Given the description of an element on the screen output the (x, y) to click on. 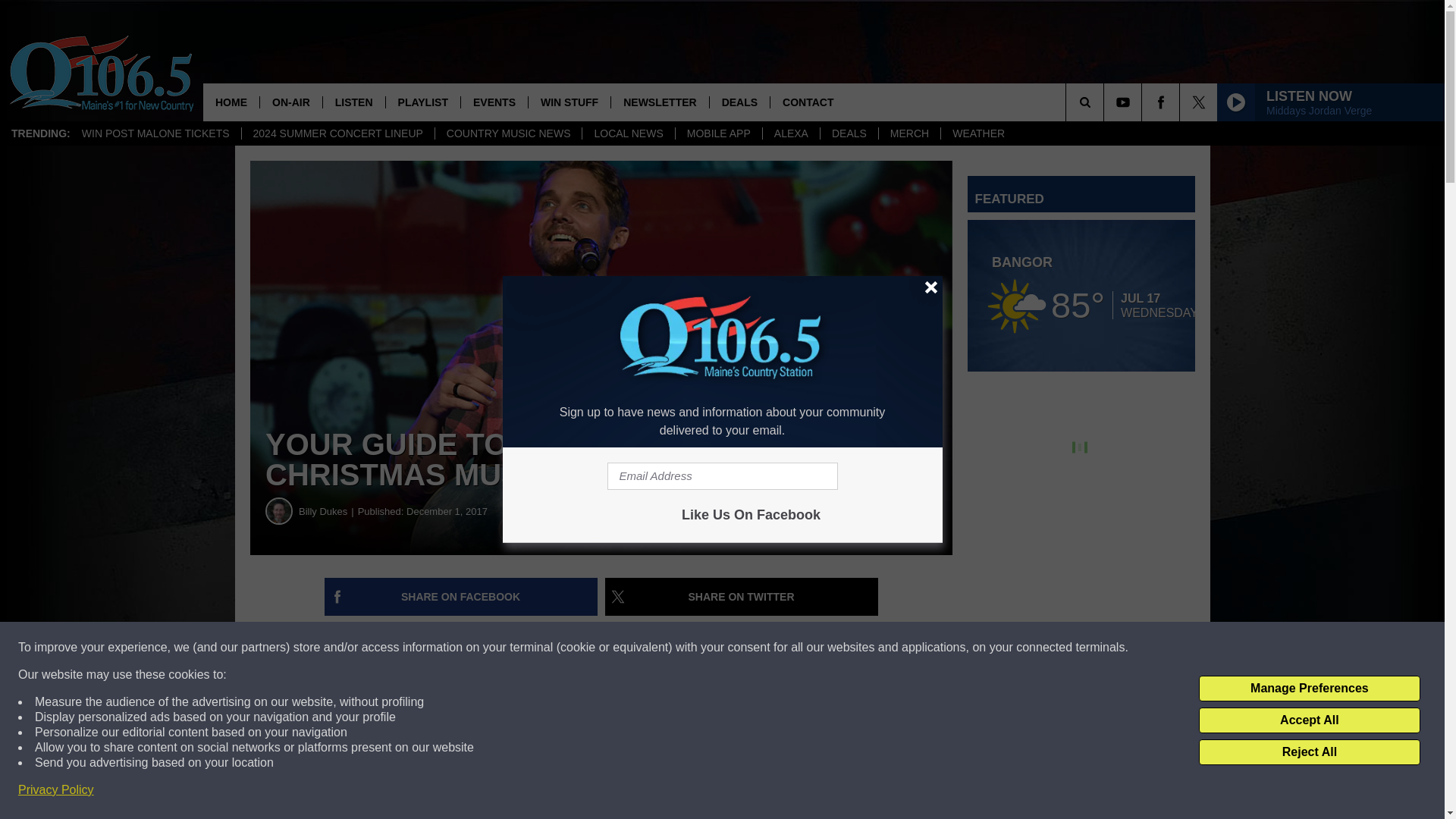
Share on Twitter (741, 596)
EVENTS (493, 102)
Accept All (1309, 720)
2024 SUMMER CONCERT LINEUP (337, 133)
MERCH (908, 133)
Reject All (1309, 751)
HOME (231, 102)
Bangor Weather (1081, 295)
SEARCH (1106, 102)
MOBILE APP (718, 133)
WIN STUFF (568, 102)
LOCAL NEWS (627, 133)
Share on Facebook (460, 596)
ALEXA (790, 133)
PLAYLIST (422, 102)
